Given the description of an element on the screen output the (x, y) to click on. 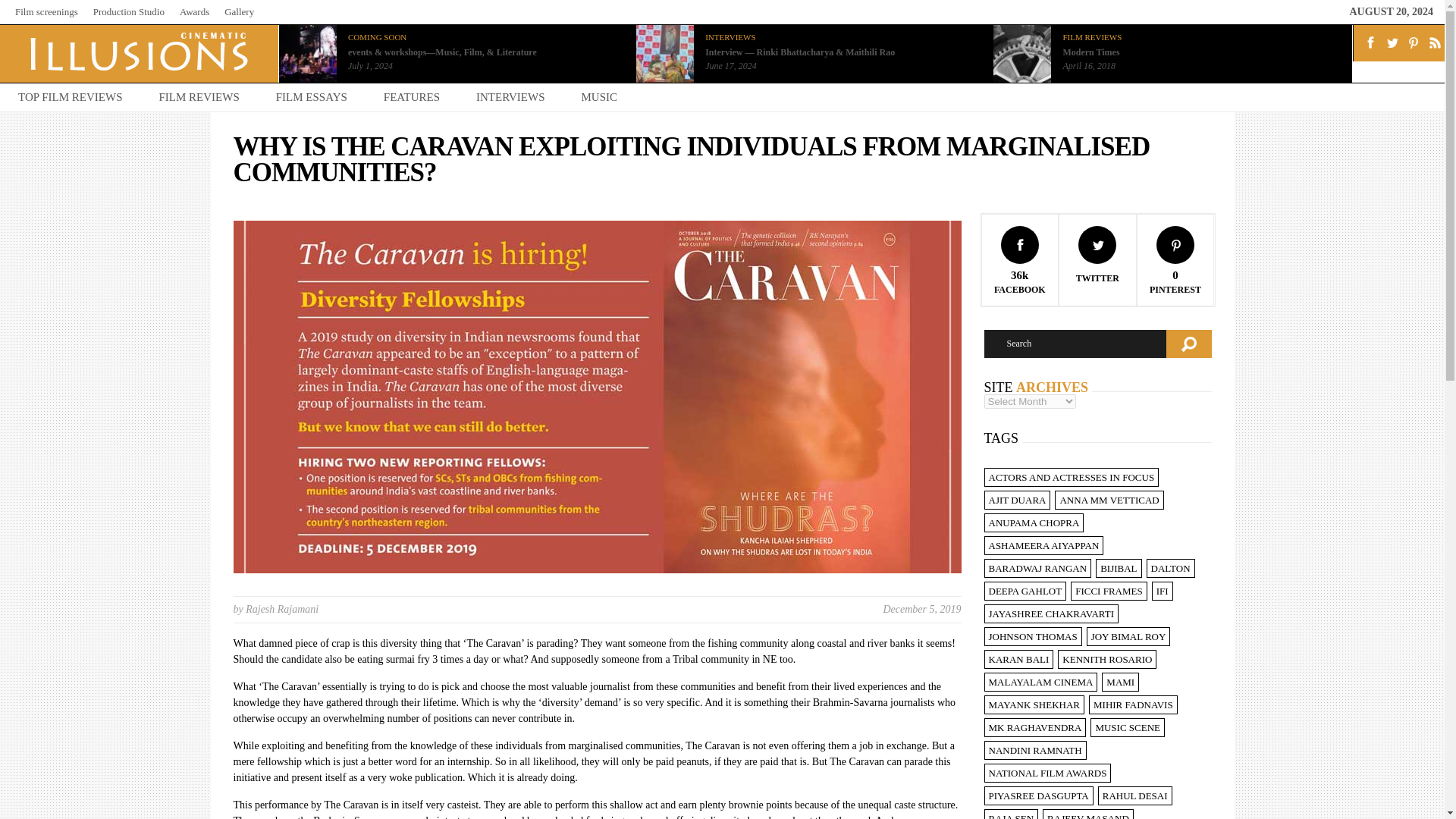
Production Studio (128, 11)
Top Film Reviews (70, 97)
INTERVIEWS (729, 36)
Search (1075, 343)
Film screenings (46, 11)
FILM REVIEWS (1091, 36)
Gallery (238, 11)
TOP FILM REVIEWS (70, 97)
Awards (194, 11)
Modern Times (1090, 51)
